Given the description of an element on the screen output the (x, y) to click on. 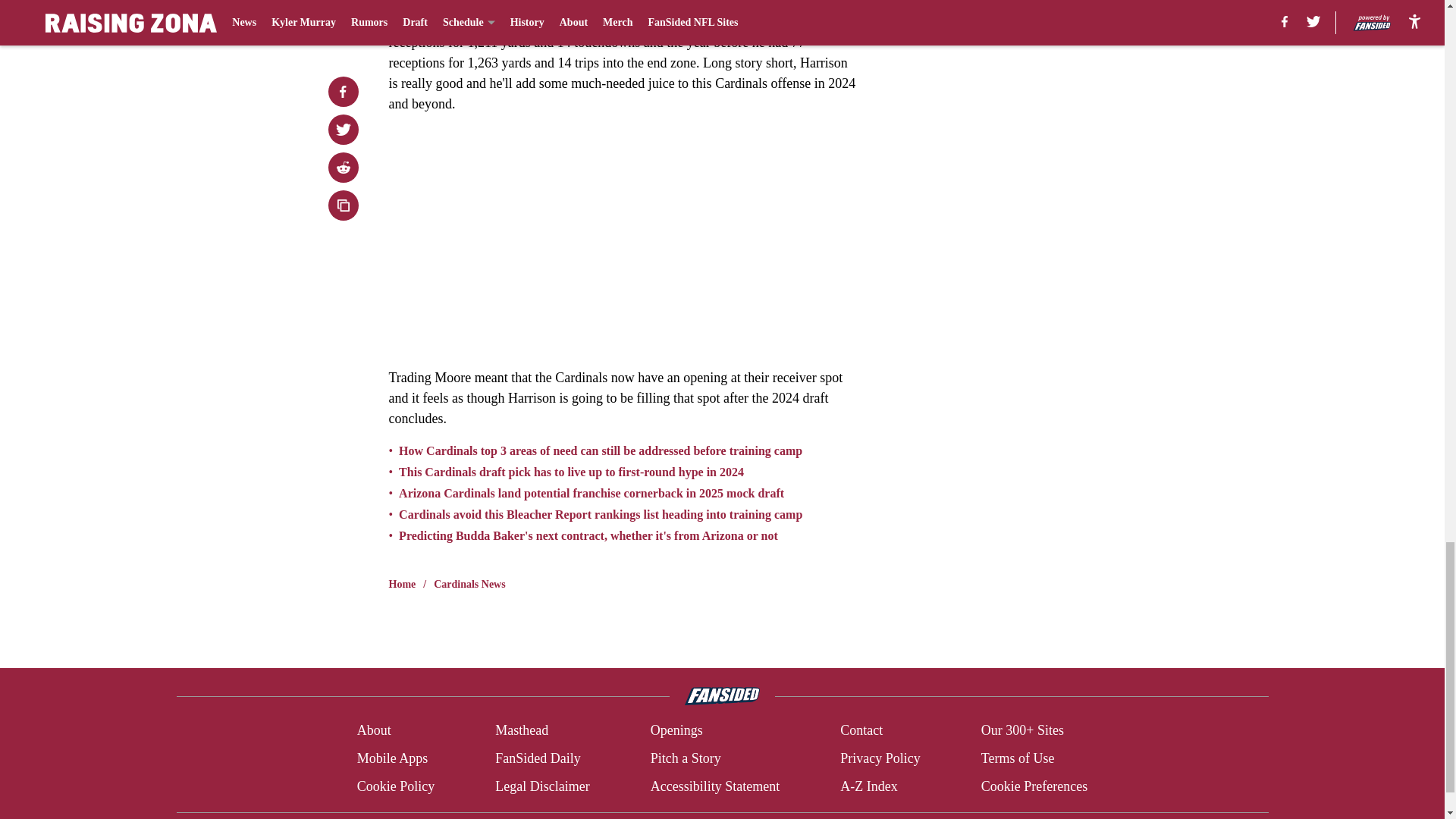
FanSided Daily (537, 758)
Contact (861, 730)
Home (401, 584)
Mobile Apps (392, 758)
Cardinals News (469, 584)
Masthead (521, 730)
About (373, 730)
Pitch a Story (685, 758)
Openings (676, 730)
